Given the description of an element on the screen output the (x, y) to click on. 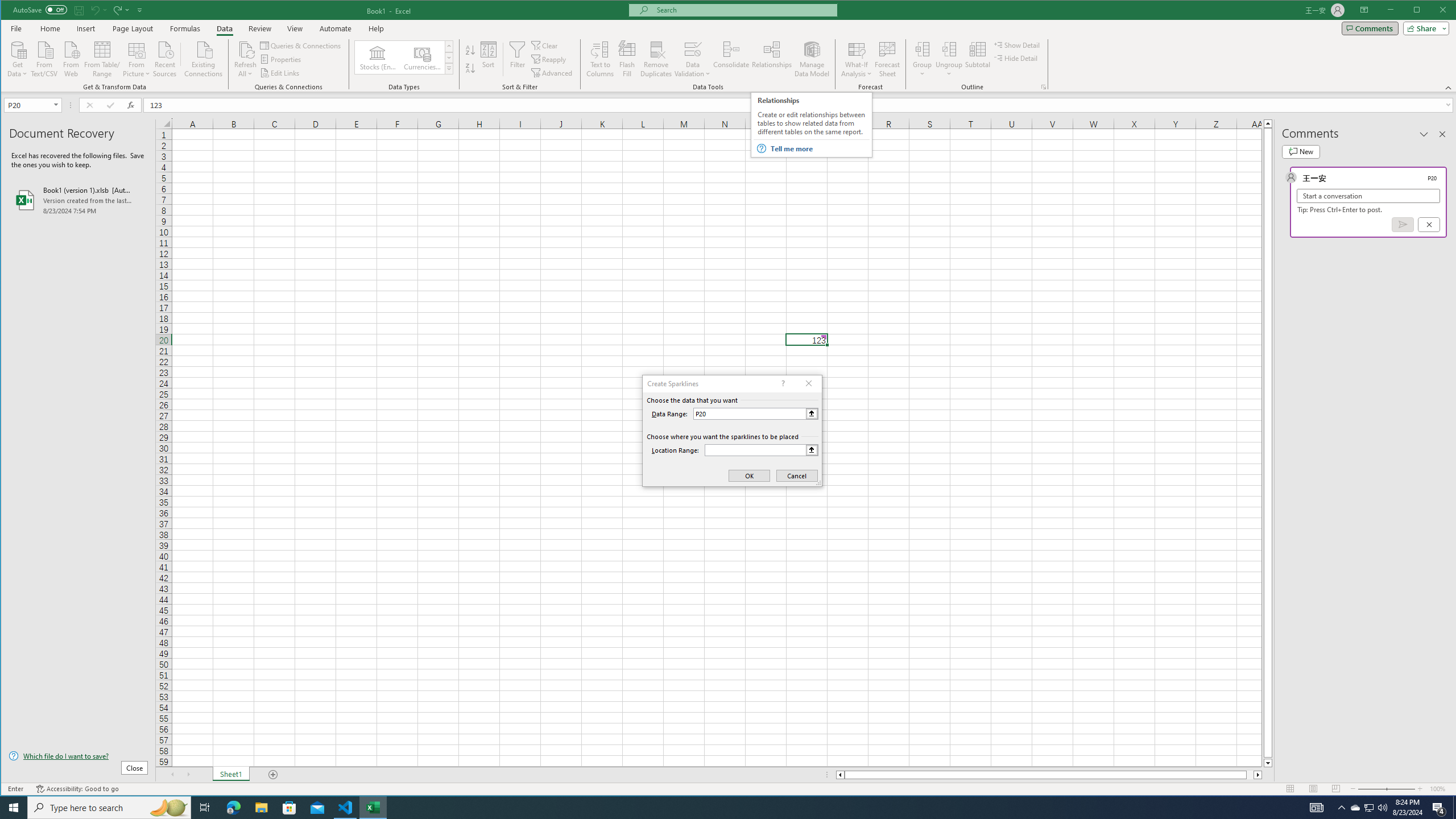
Start a conversation (1368, 195)
Sort Largest to Smallest (470, 68)
